Given the description of an element on the screen output the (x, y) to click on. 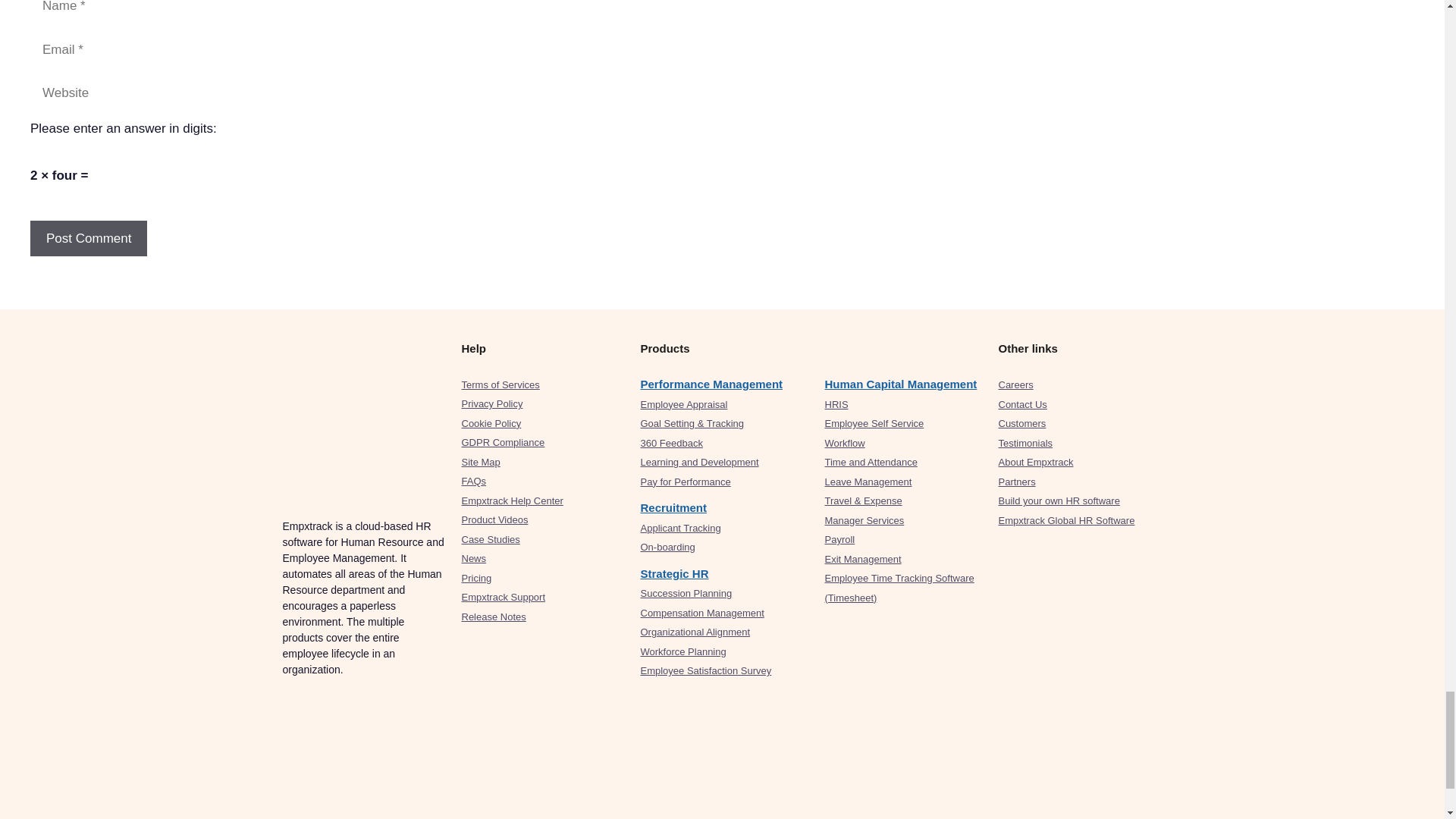
Empxtrack Appraisal software (683, 404)
Empxtrack site map (480, 461)
Empxtrack case studies (490, 539)
Empxtrack privacy policy (491, 403)
Empxtrack cookie policy (491, 423)
Empxtrack videos (494, 519)
Empxtrack GDPR compliance (502, 441)
Empxtrack terms of services (499, 384)
Empxtrack pricing (476, 577)
Empxtrack performance management solution (711, 383)
